Given the description of an element on the screen output the (x, y) to click on. 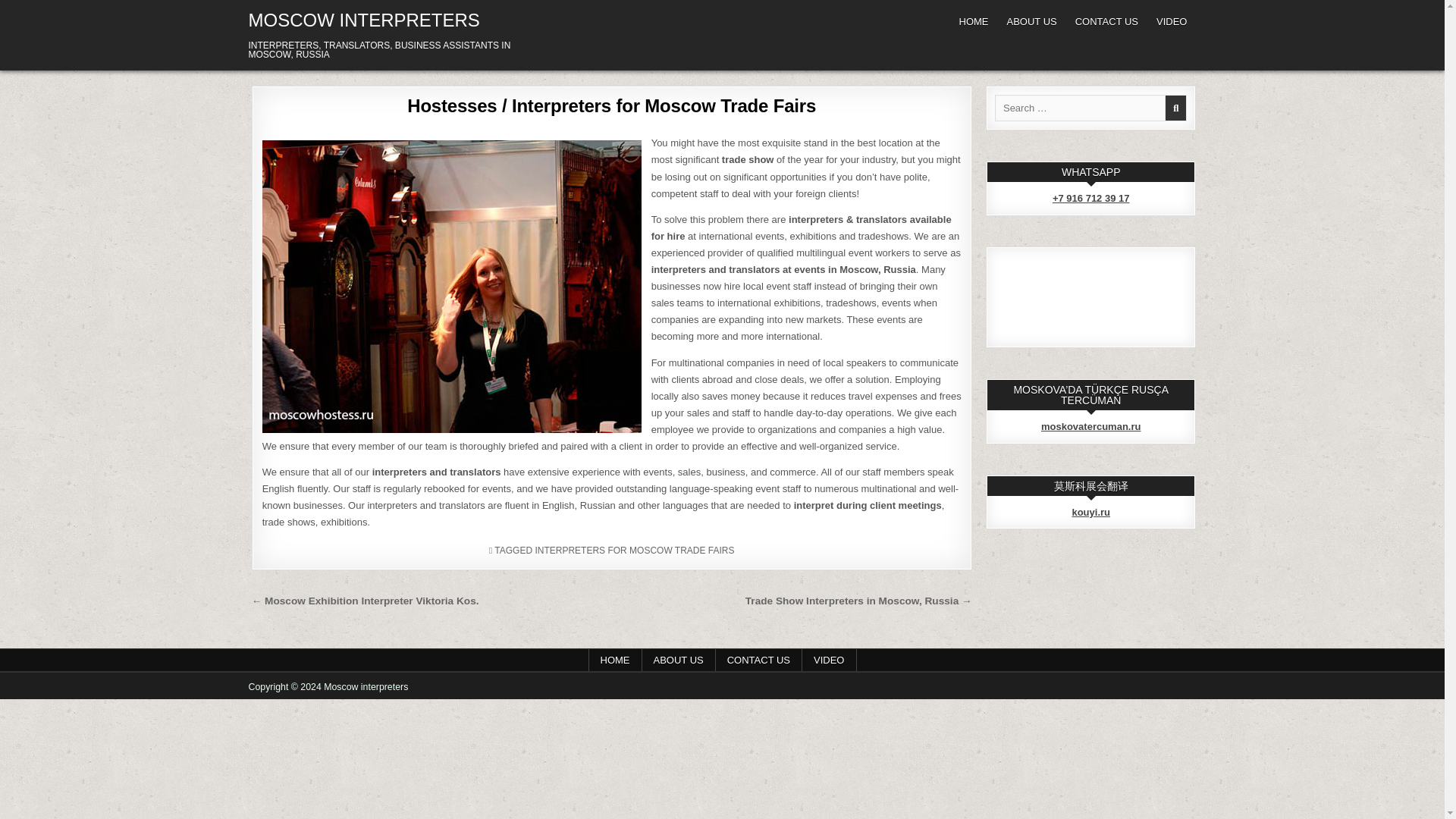
MOSCOW INTERPRETERS (364, 19)
HOME (615, 659)
ABOUT US (1031, 21)
kouyi.ru (1090, 511)
INTERPRETERS FOR MOSCOW TRADE FAIRS (633, 550)
VIDEO (829, 659)
CONTACT US (1106, 21)
VIDEO (1171, 21)
moskovatercuman.ru (1091, 426)
CONTACT US (759, 659)
